Given the description of an element on the screen output the (x, y) to click on. 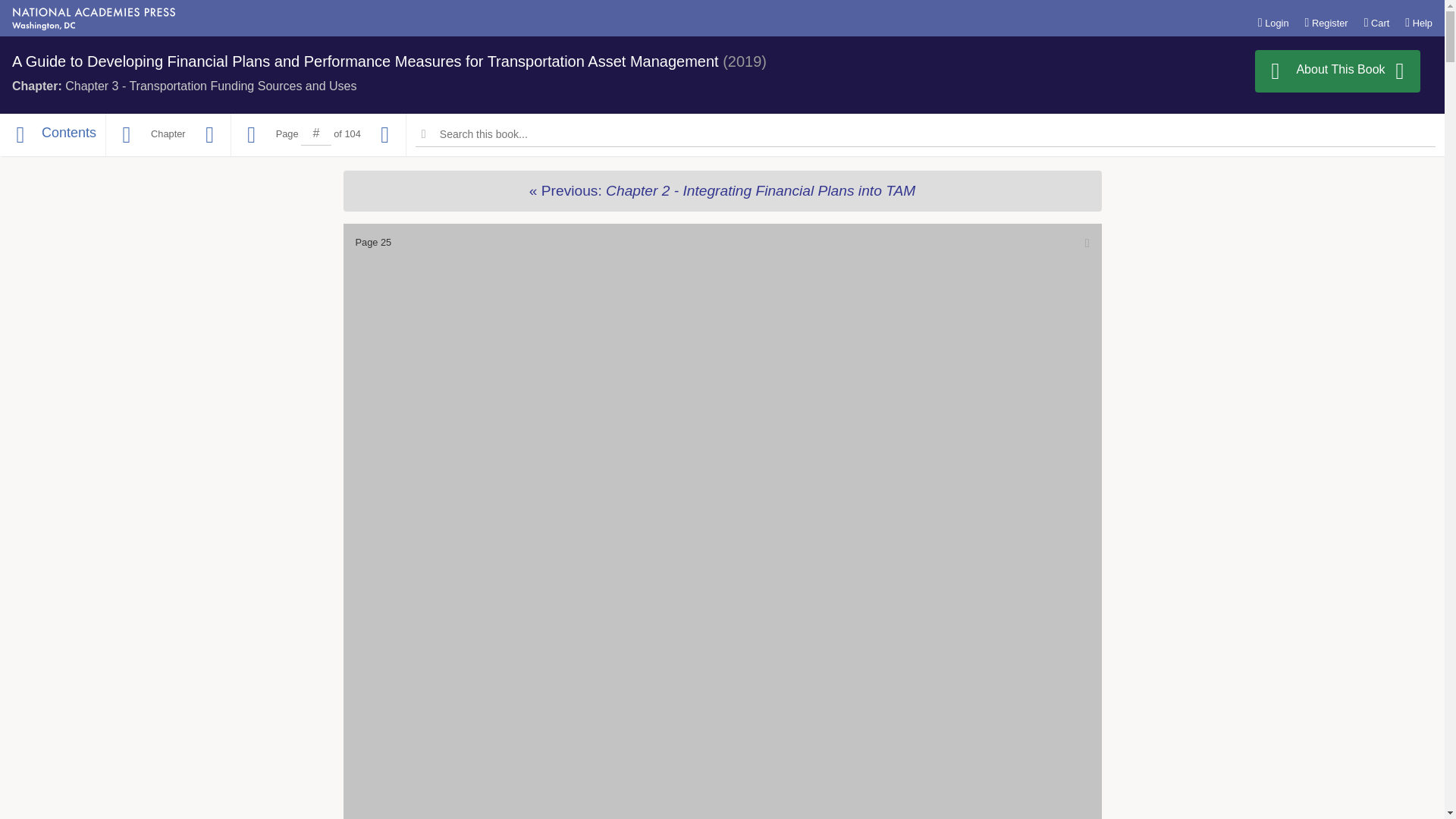
Next Page (385, 134)
Login (1272, 22)
Buy or download a copy of this book. (1338, 70)
Previous Chapter (721, 190)
Contents (52, 134)
Register (1326, 22)
Previous Chapter (126, 134)
Previous Page (251, 134)
About This Book (1338, 70)
Help (1418, 22)
